Given the description of an element on the screen output the (x, y) to click on. 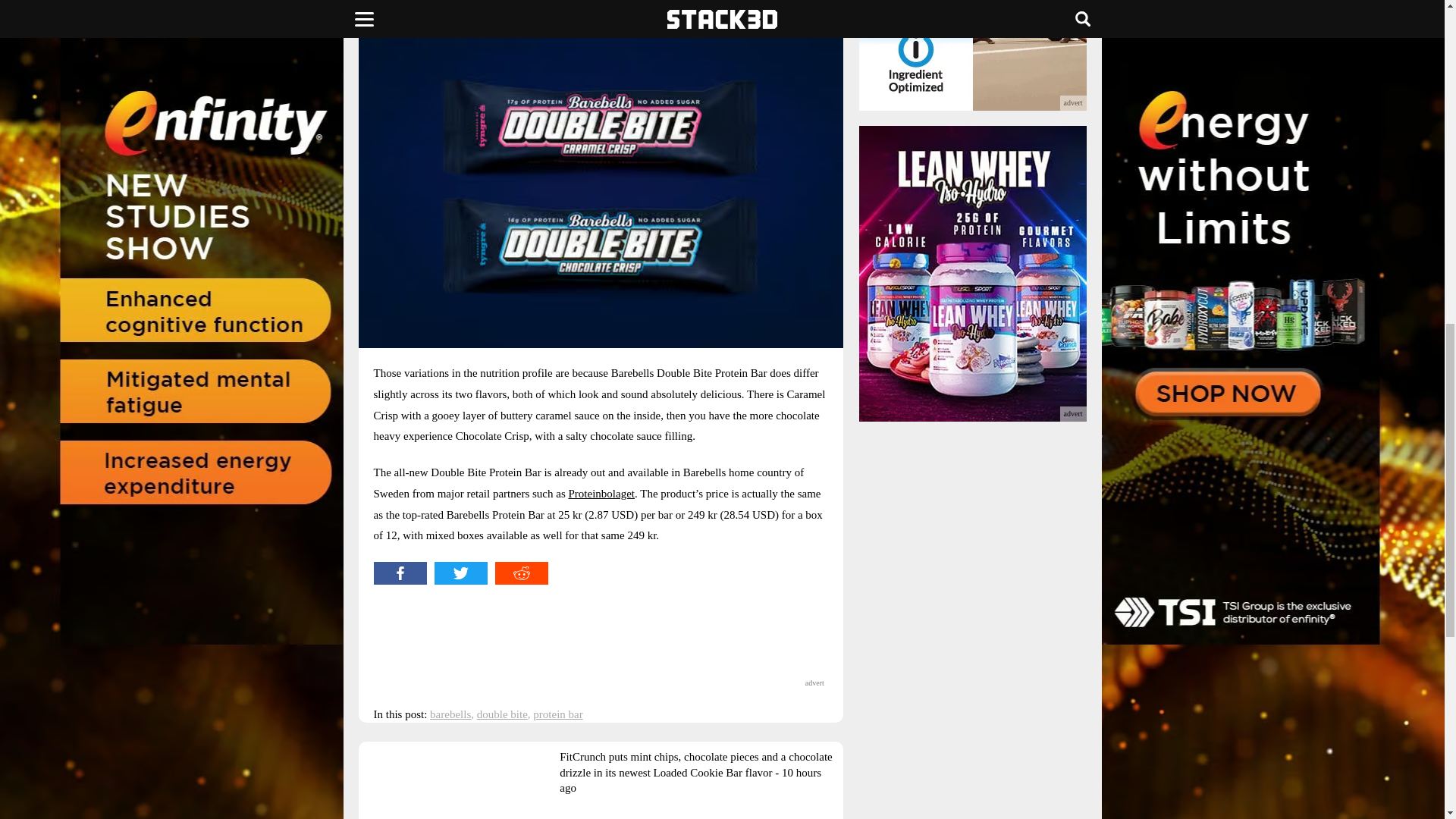
barebells (449, 714)
Proteinbolaget (601, 493)
